Given the description of an element on the screen output the (x, y) to click on. 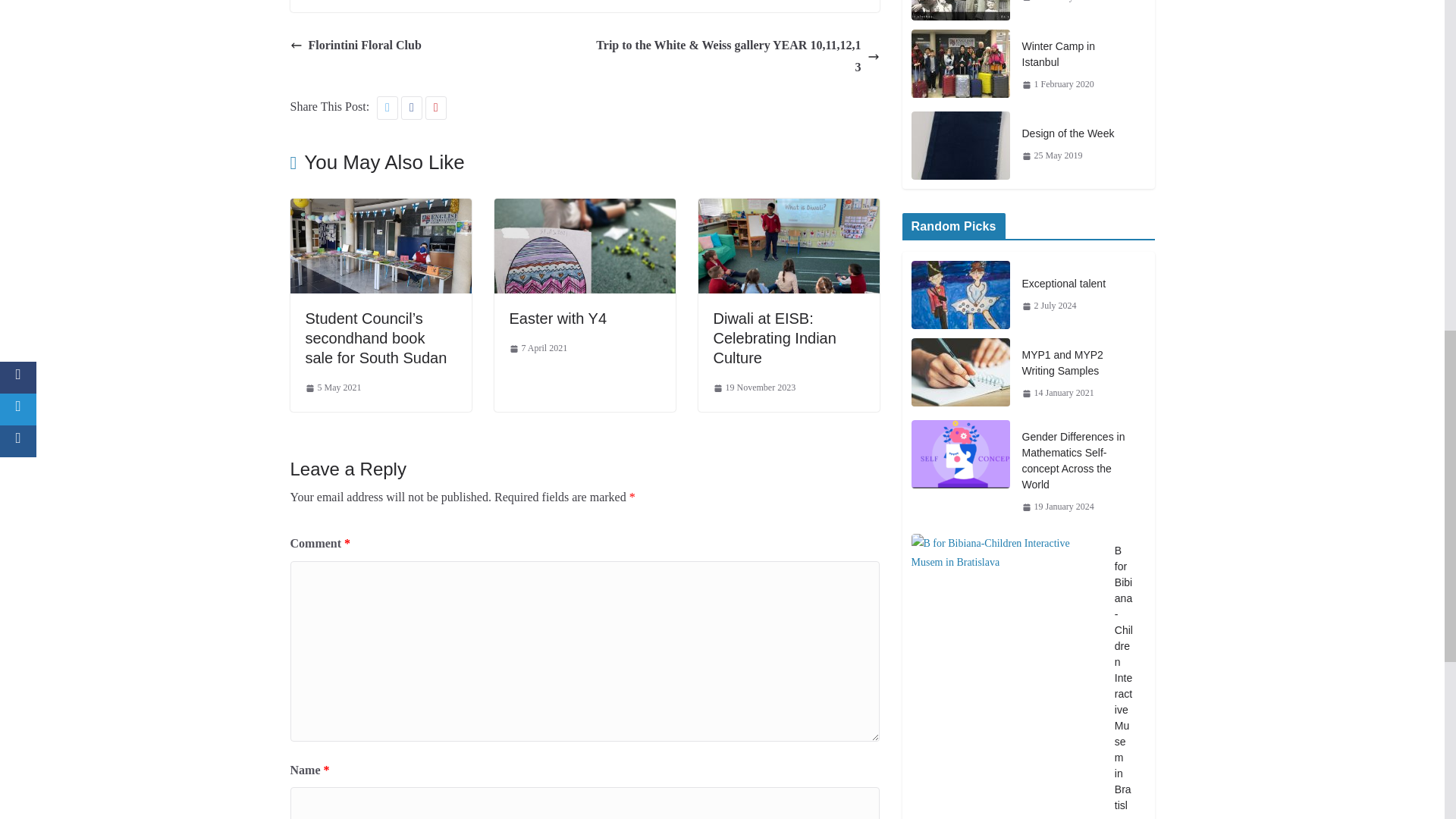
Easter with Y4 (558, 318)
7 April 2021 (538, 348)
5 May 2021 (332, 388)
Diwali at EISB: Celebrating Indian Culture (774, 338)
09:16 (332, 388)
Easter with Y4 (558, 318)
19 November 2023 (753, 388)
Easter with Y4 (585, 208)
Florintini Floral Club (354, 45)
12:45 (538, 348)
